Given the description of an element on the screen output the (x, y) to click on. 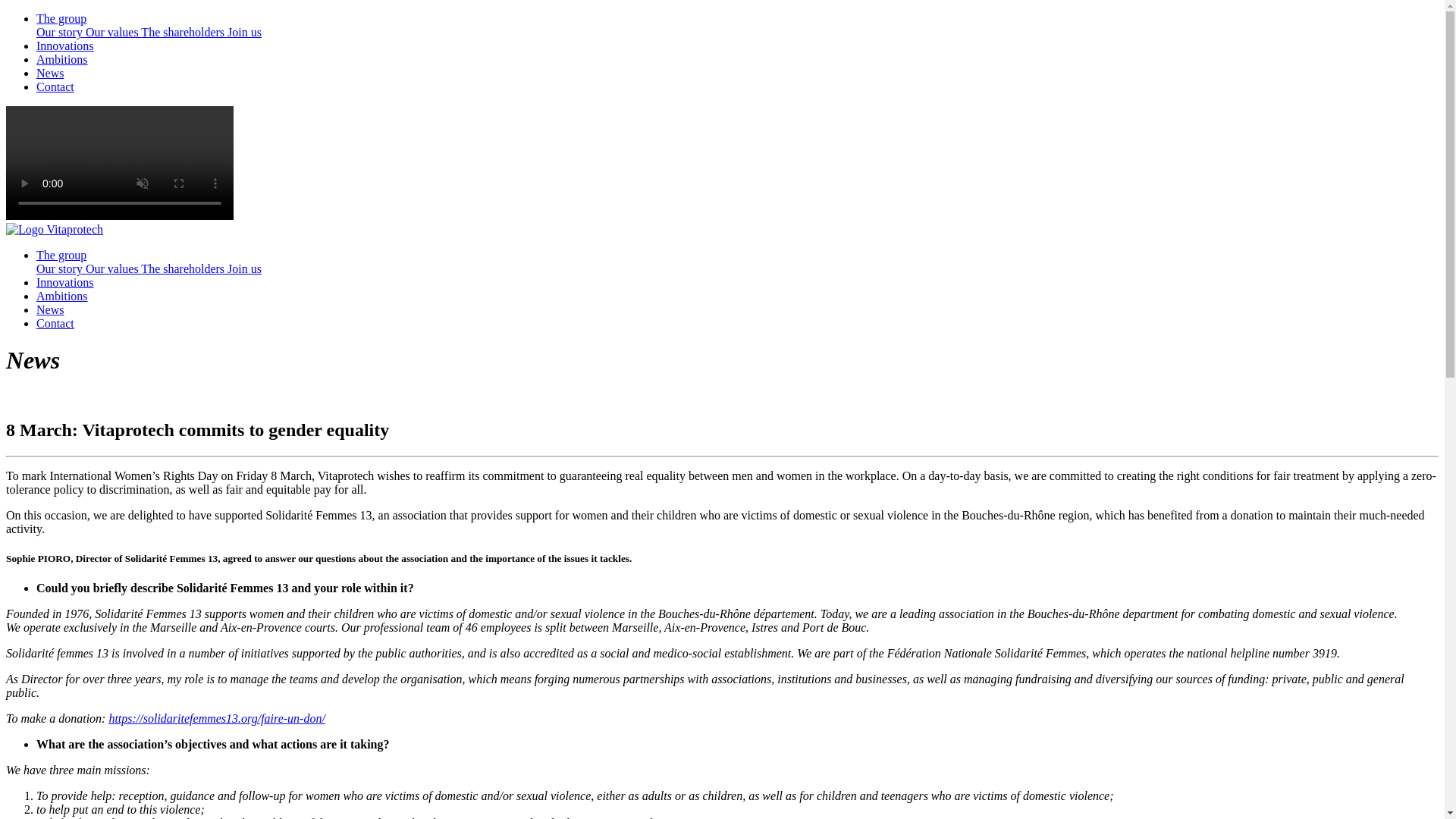
Our story (60, 31)
Our values (113, 31)
Contact (55, 323)
News (50, 72)
Ambitions (61, 59)
Join us (244, 31)
Join us (244, 268)
Contact (55, 86)
The group (60, 18)
News (50, 309)
Innovations (65, 282)
The group (60, 254)
Innovations (65, 45)
Our values (113, 268)
Ambitions (61, 295)
